Given the description of an element on the screen output the (x, y) to click on. 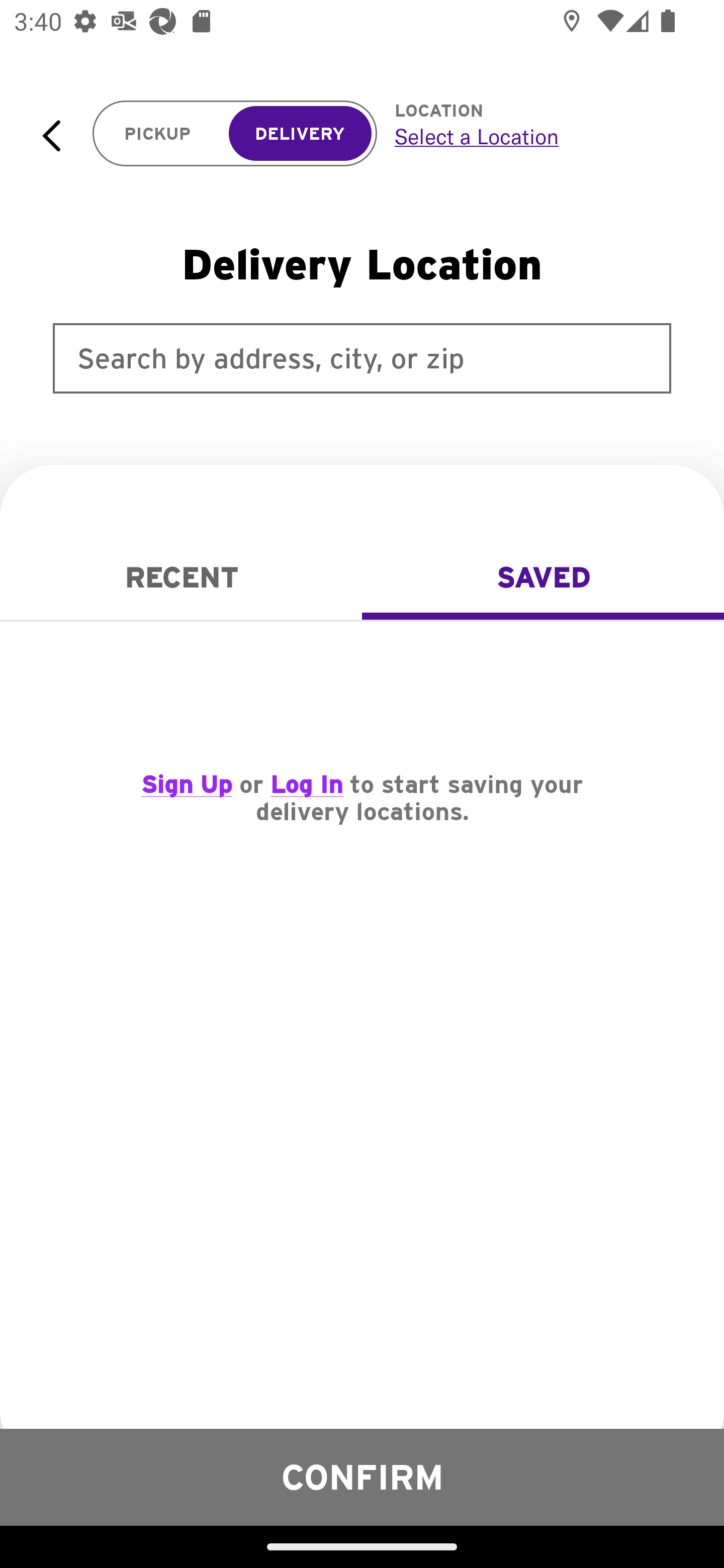
PICKUP (157, 133)
DELIVERY (299, 133)
Select a Location (536, 136)
Search by address, city, or zip (361, 358)
Recent RECENT (181, 576)
CONFIRM (362, 1476)
